Given the description of an element on the screen output the (x, y) to click on. 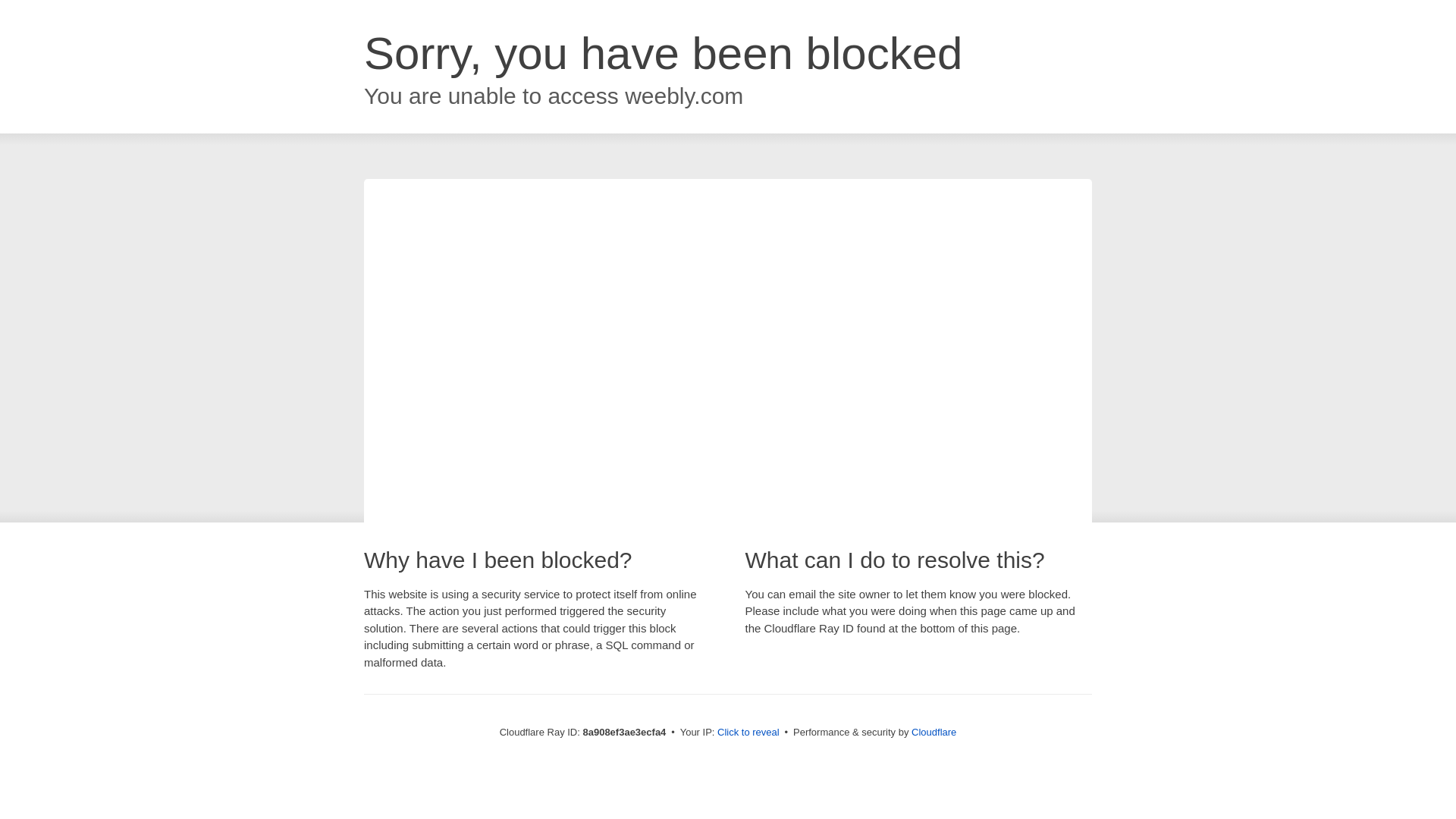
Cloudflare (933, 731)
Click to reveal (747, 732)
